Given the description of an element on the screen output the (x, y) to click on. 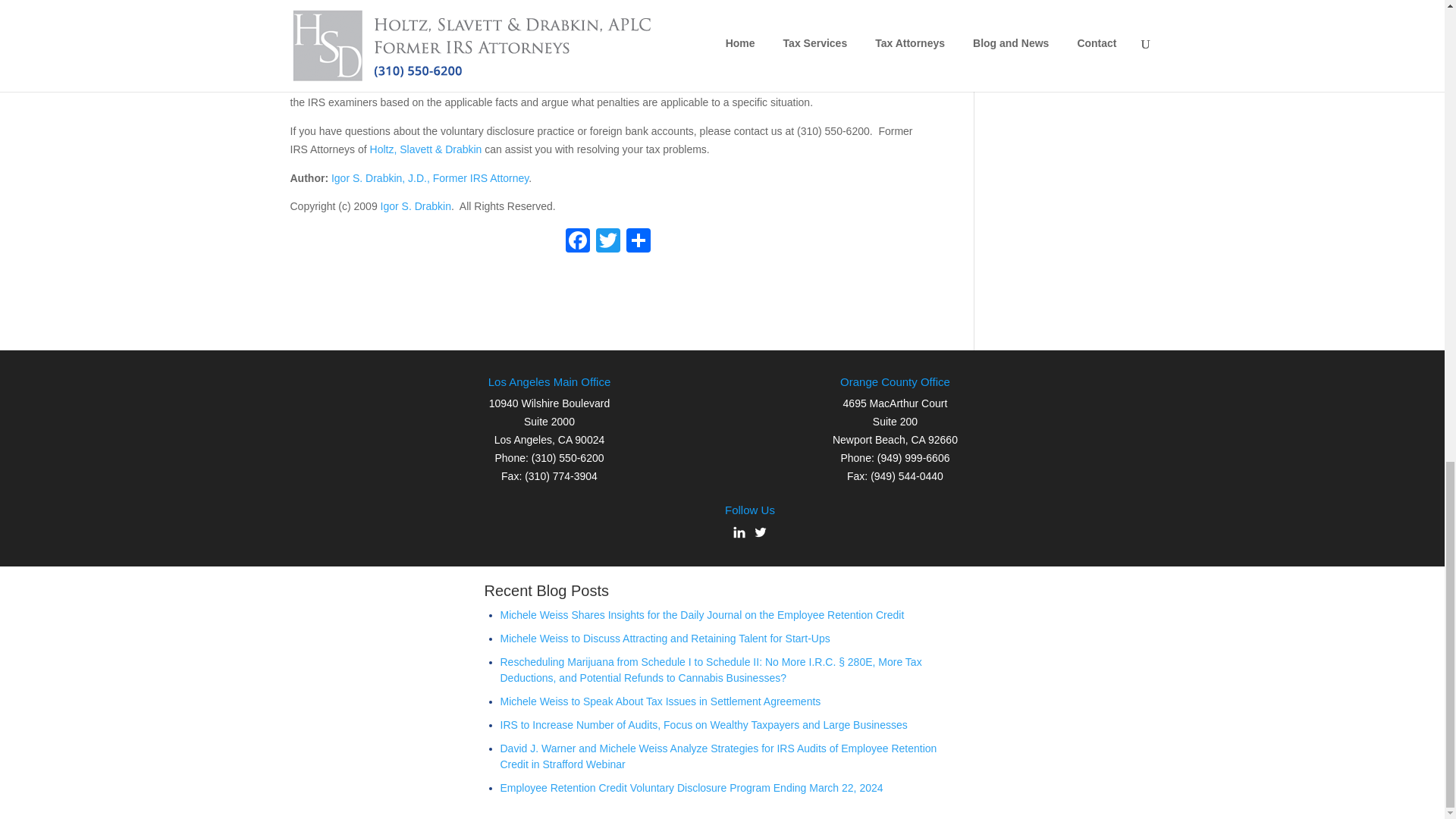
Facebook (577, 242)
Twitter (607, 242)
Igor Drabkin, Los Angeles Tax Attorney, Former IRS Attorney (429, 177)
Former IRS Attorneys - Los Angeles Tax Attorneys (425, 149)
